Given the description of an element on the screen output the (x, y) to click on. 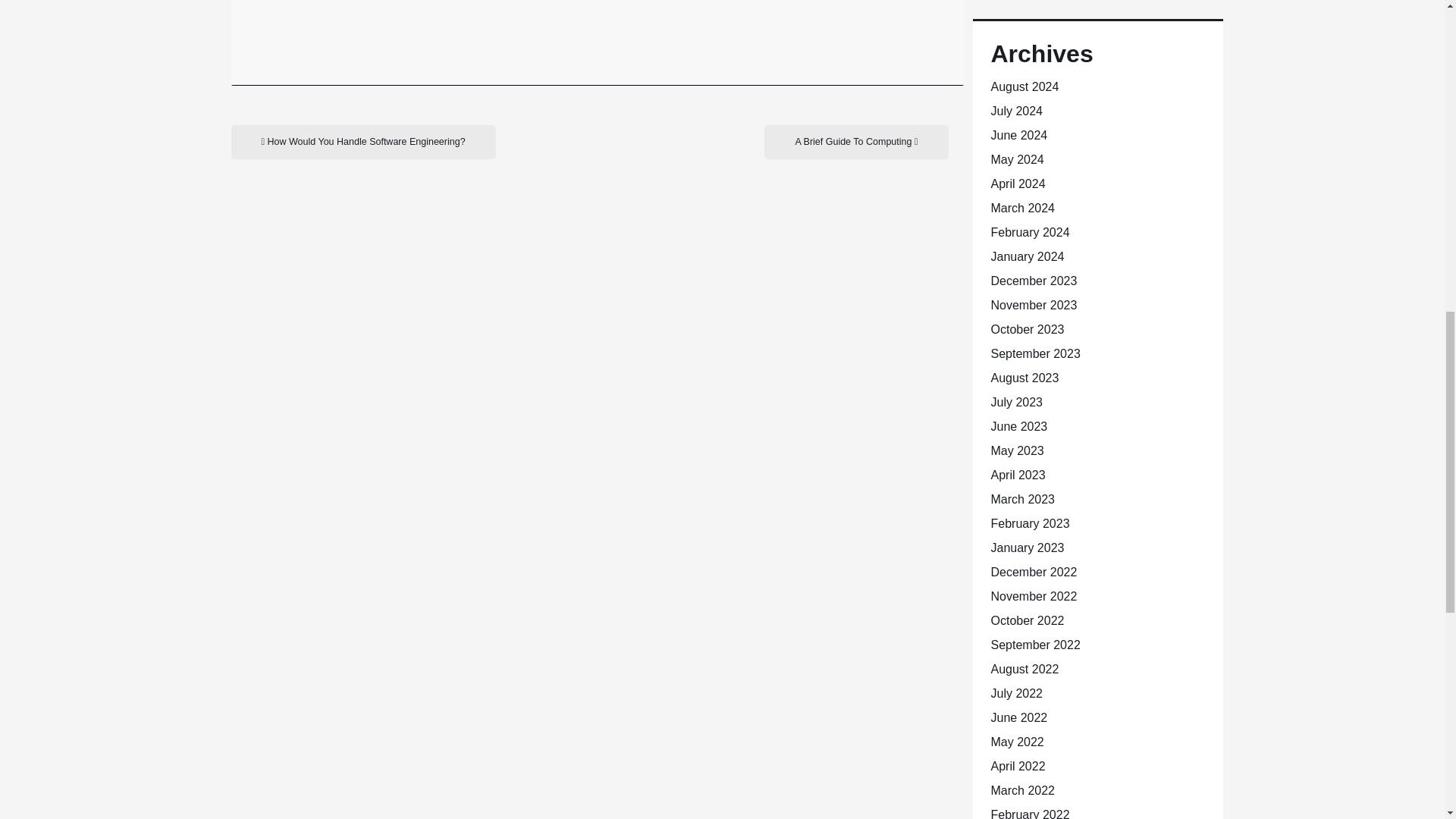
January 2024 (1027, 256)
July 2022 (1016, 693)
February 2024 (1029, 232)
February 2023 (1029, 522)
December 2022 (1033, 571)
August 2023 (1024, 377)
June 2023 (1018, 426)
July 2024 (1016, 110)
October 2022 (1027, 620)
November 2022 (1033, 595)
August 2024 (1024, 86)
May 2023 (1016, 450)
December 2023 (1033, 280)
November 2023 (1033, 305)
August 2022 (1024, 668)
